Given the description of an element on the screen output the (x, y) to click on. 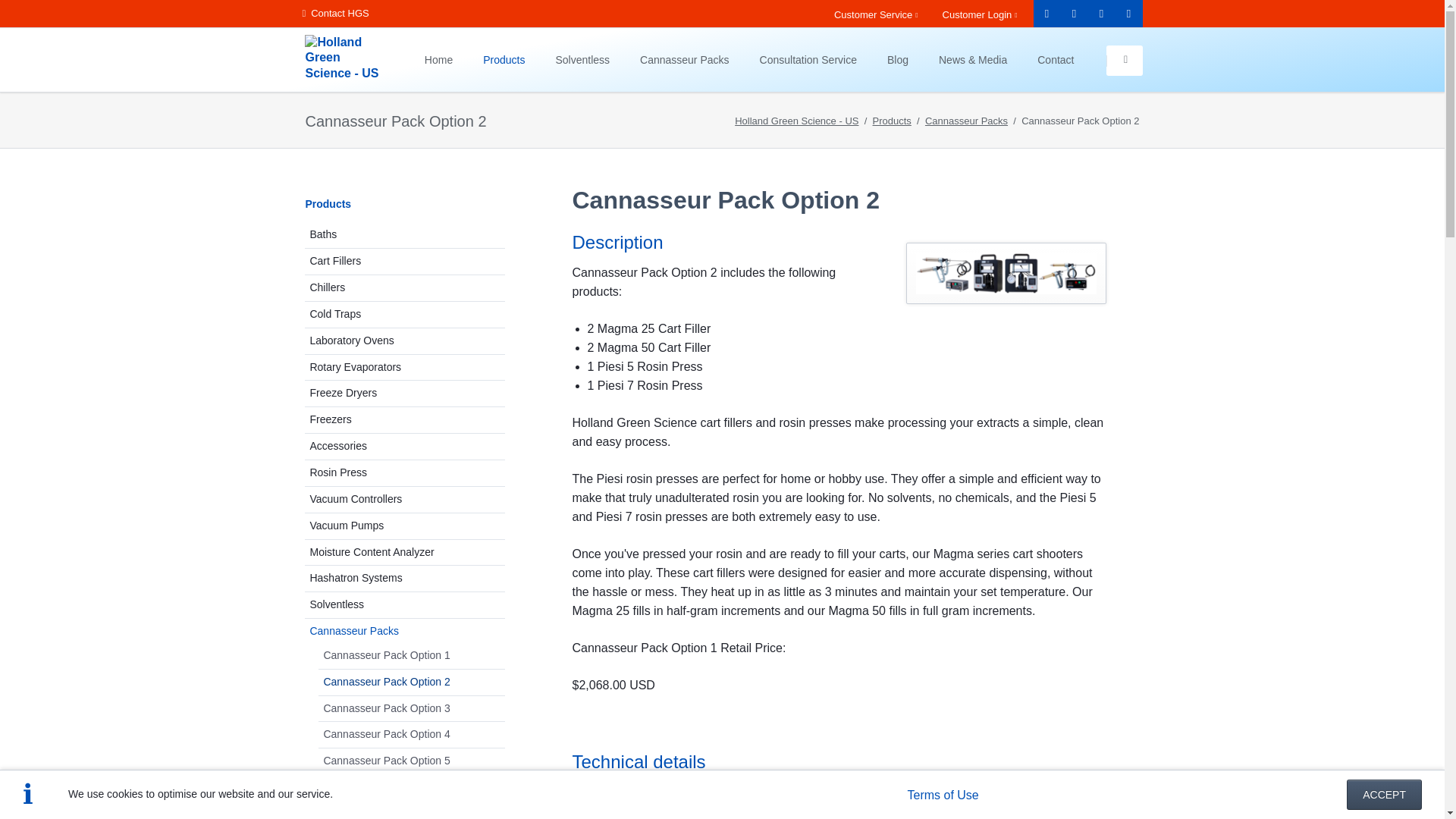
Home (438, 59)
Terms of Use (942, 794)
Products (503, 59)
ACCEPT (1384, 794)
Contact HGS (334, 13)
Products (503, 59)
Home (438, 59)
